Given the description of an element on the screen output the (x, y) to click on. 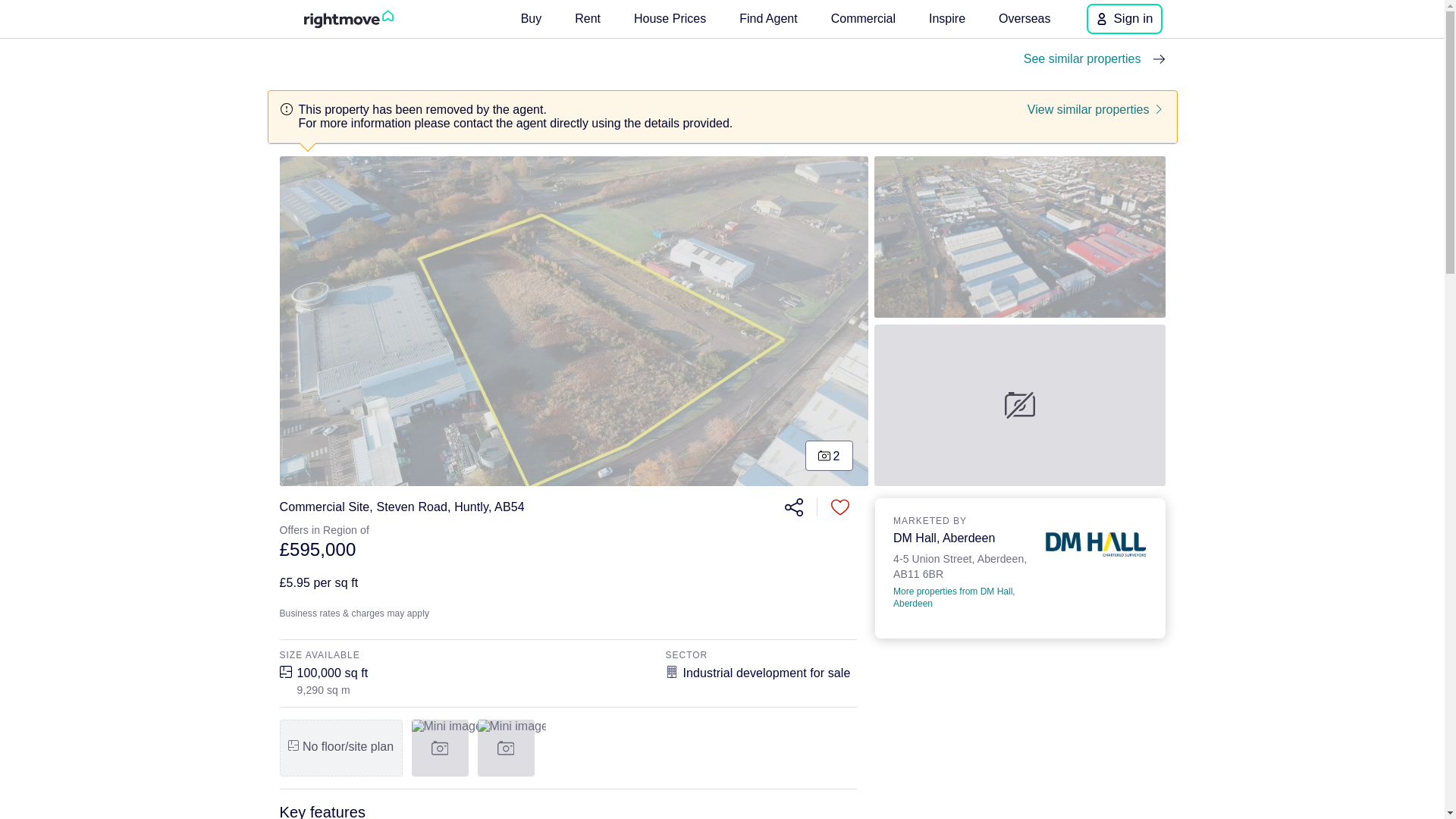
Share this property (792, 506)
Rent (588, 18)
Commercial (962, 565)
Save this property (863, 18)
Inspire (840, 506)
Photo 2 (947, 18)
House Prices (1020, 236)
Find Agent (669, 18)
Overseas (768, 18)
